Given the description of an element on the screen output the (x, y) to click on. 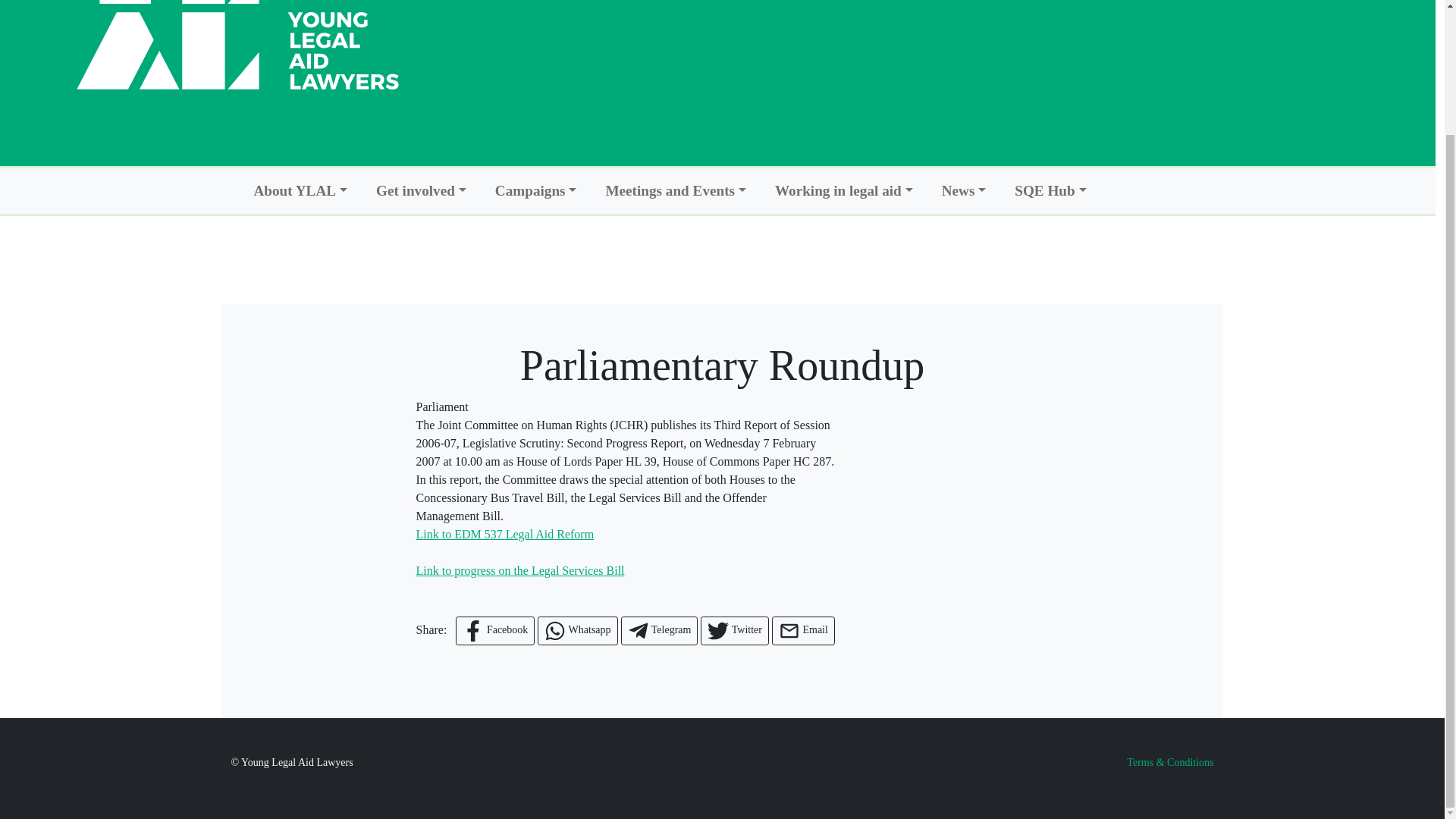
Meetings and Events (674, 191)
Facebook (494, 630)
About YLAL (299, 191)
News (964, 191)
Get involved (420, 191)
Link to EDM 537 Legal Aid Reform (504, 533)
SQE Hub (1050, 191)
Whatsapp (577, 630)
Campaigns (536, 191)
Link to progress on the Legal Services Bill (519, 570)
